Given the description of an element on the screen output the (x, y) to click on. 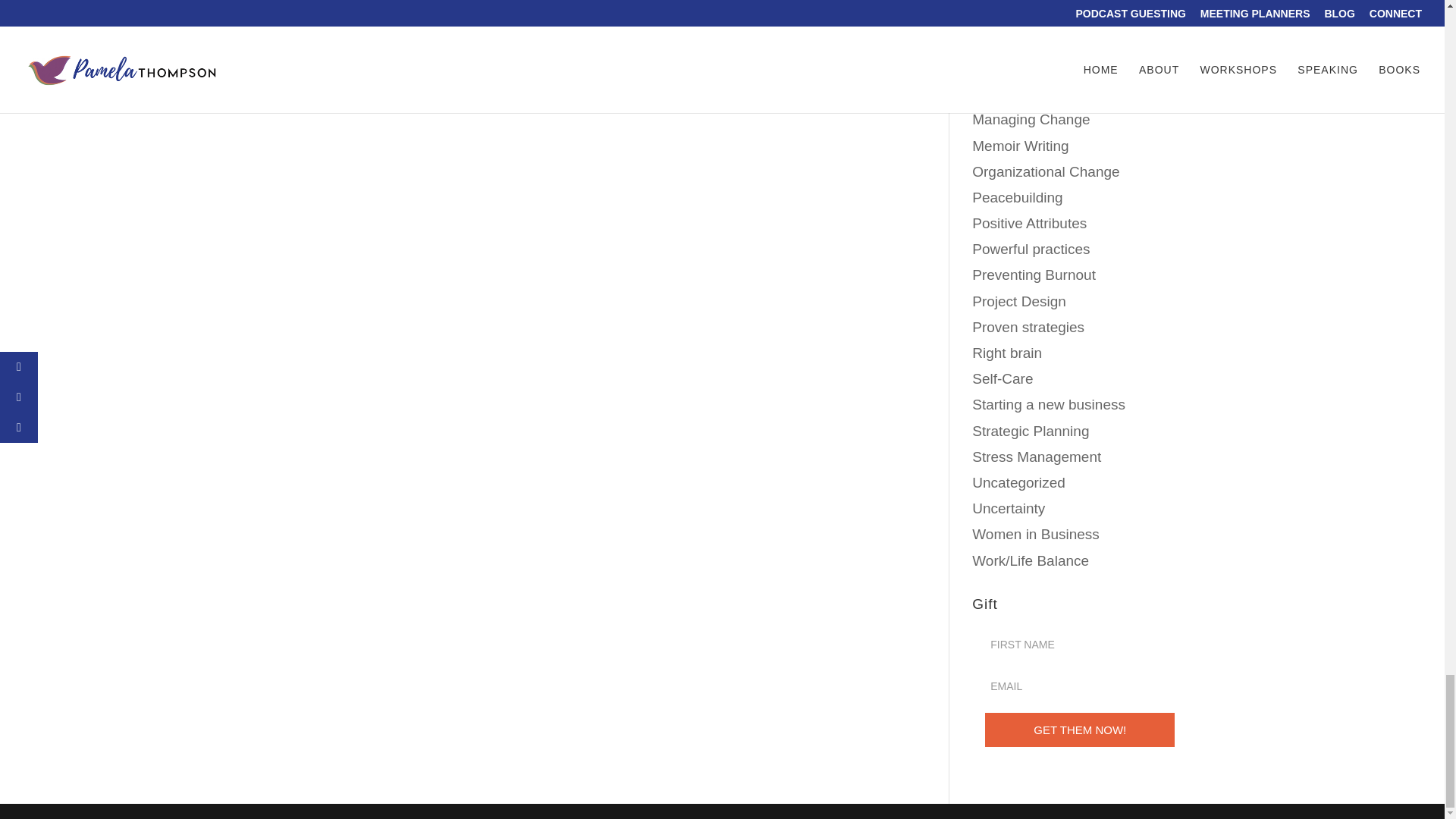
GET THEM NOW! (1079, 729)
